Given the description of an element on the screen output the (x, y) to click on. 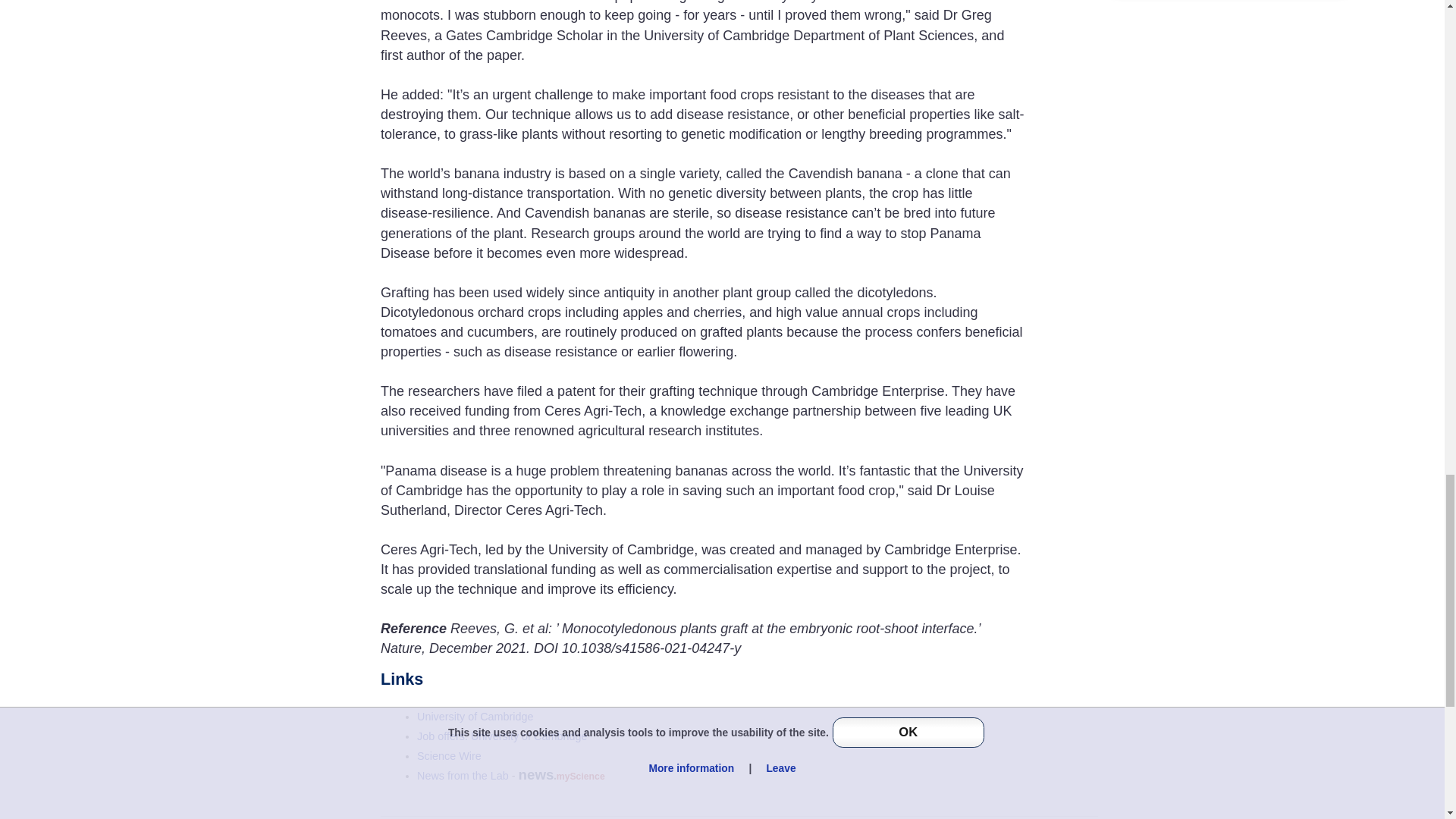
News (462, 775)
All news and press releases (448, 756)
